Given the description of an element on the screen output the (x, y) to click on. 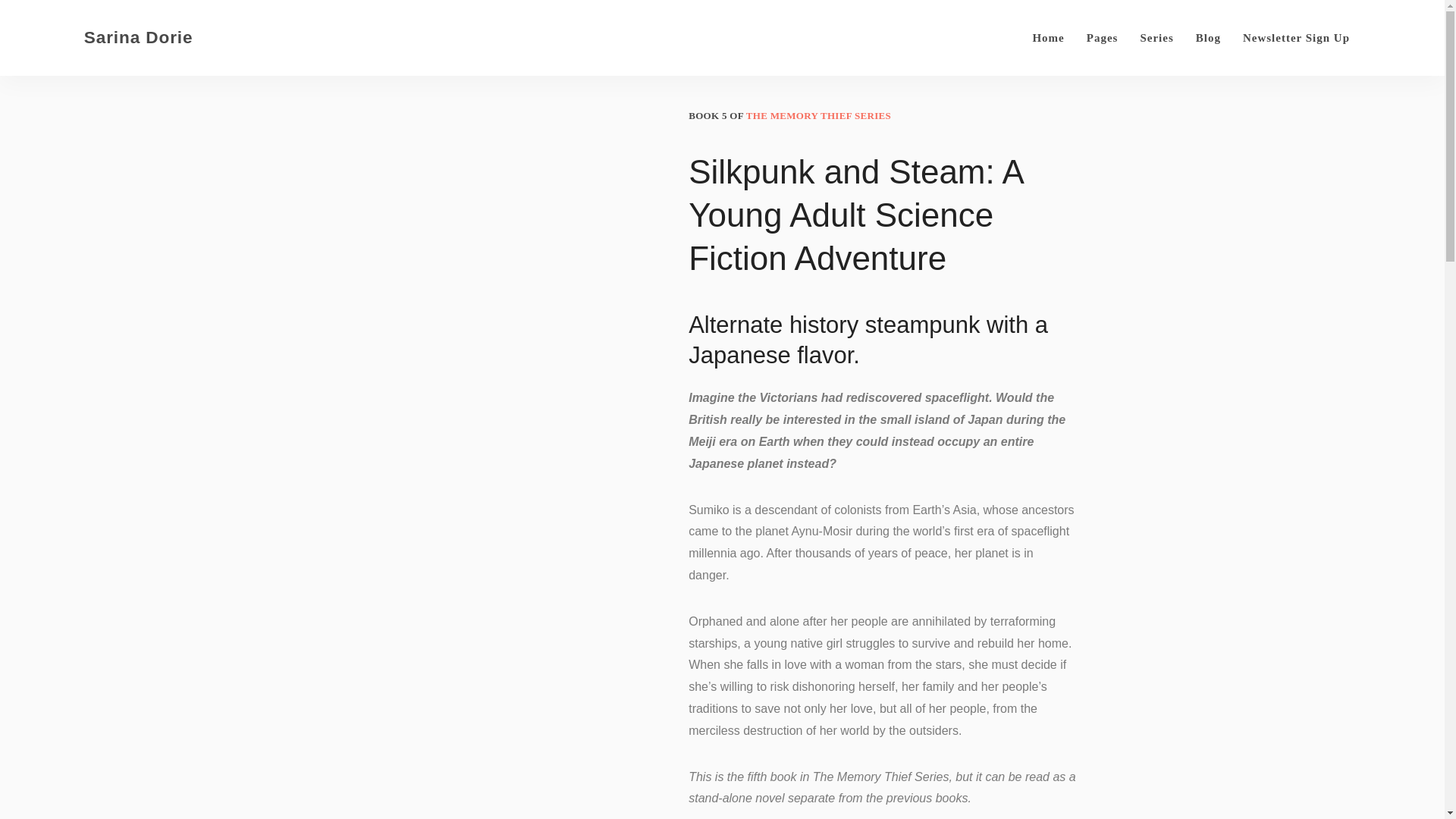
HUMOR (393, 44)
Series (1156, 38)
Sarina Dorie (146, 41)
Pages (1102, 38)
Home (1048, 38)
HOME (317, 44)
Newsletter Sign Up (1296, 38)
THE MEMORY THIEF SERIES (818, 115)
